Given the description of an element on the screen output the (x, y) to click on. 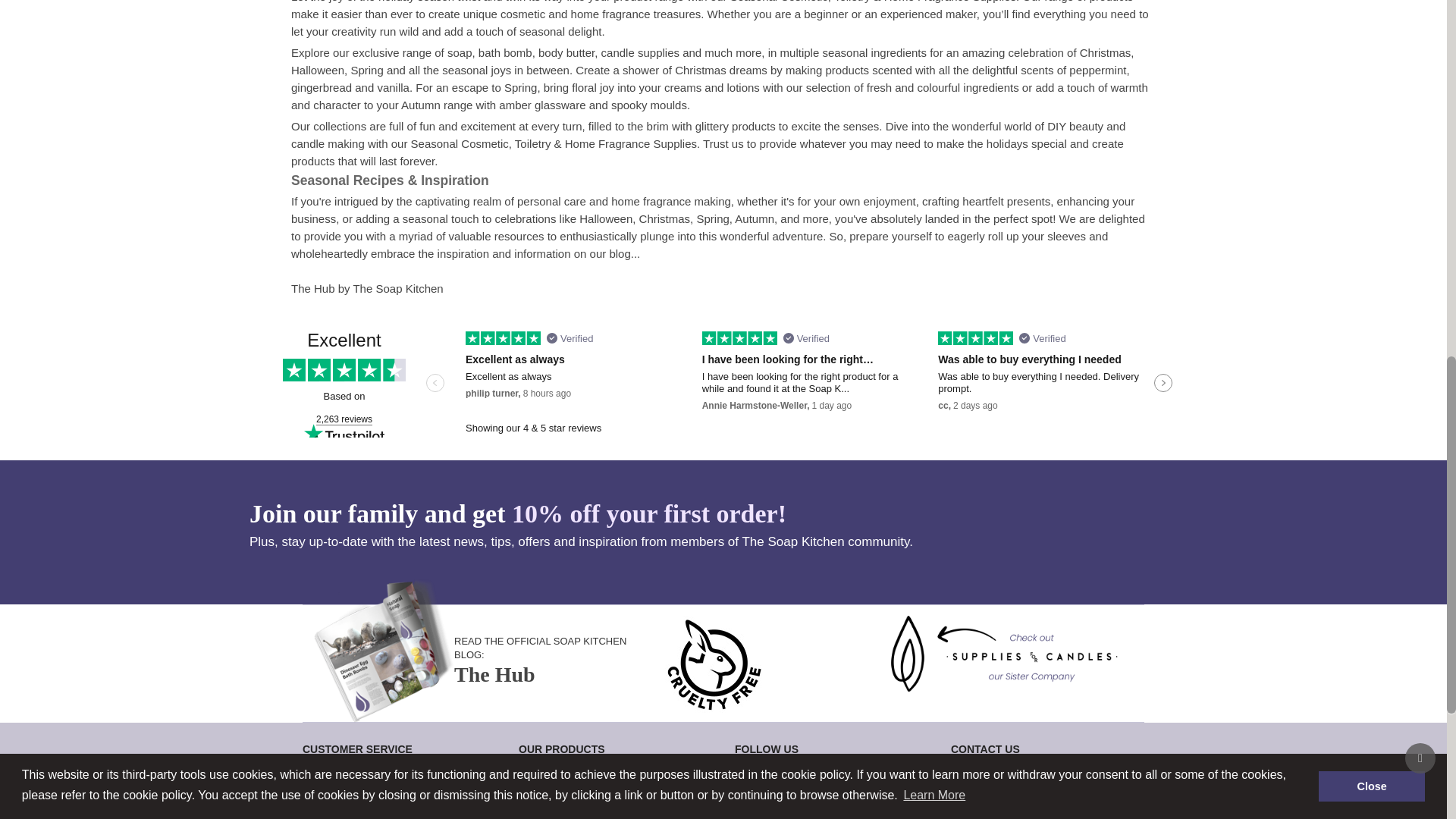
Customer reviews powered by Trustpilot (722, 384)
